Given the description of an element on the screen output the (x, y) to click on. 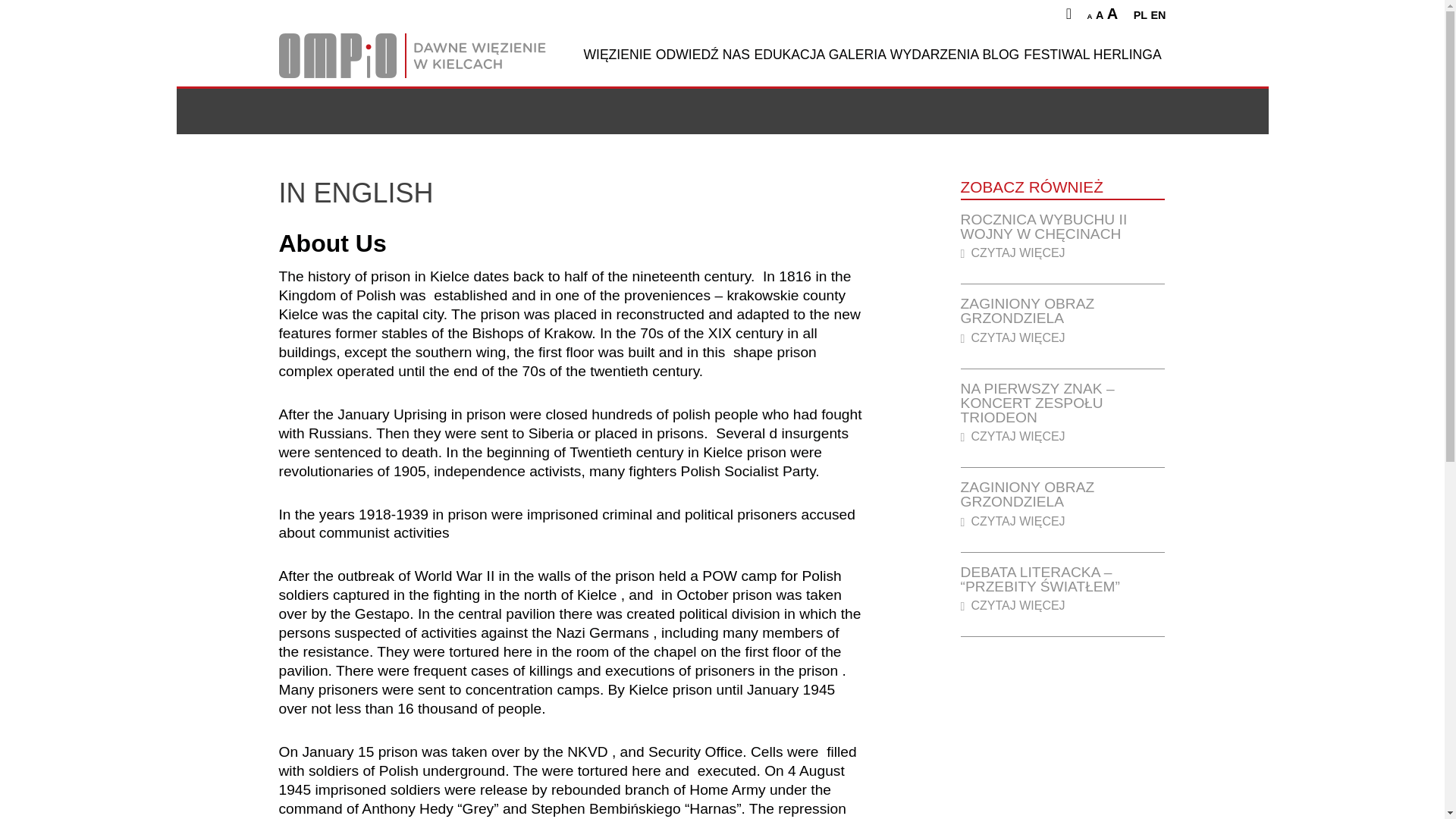
EDUKACJA (789, 55)
EN (1158, 15)
PL (1140, 15)
GALERIA (857, 55)
WYDARZENIA (934, 55)
FESTIWAL HERLINGA (1093, 55)
